Given the description of an element on the screen output the (x, y) to click on. 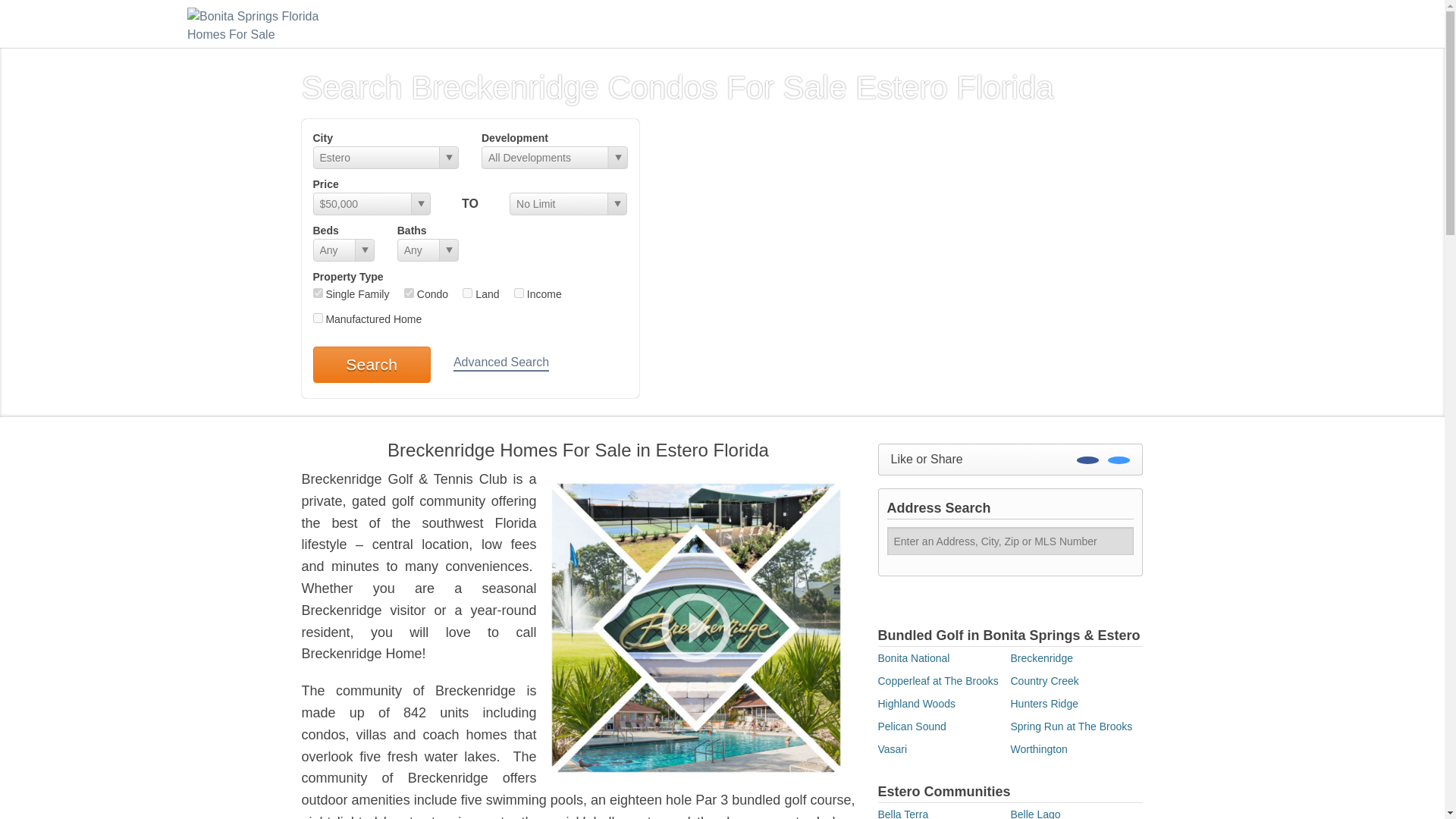
lnd (467, 293)
mul (518, 293)
Bonita Springs Florida Homes For Sale (263, 23)
Search (371, 364)
man (317, 317)
res (317, 293)
Advanced Search (500, 363)
Search (371, 364)
con (408, 293)
